Given the description of an element on the screen output the (x, y) to click on. 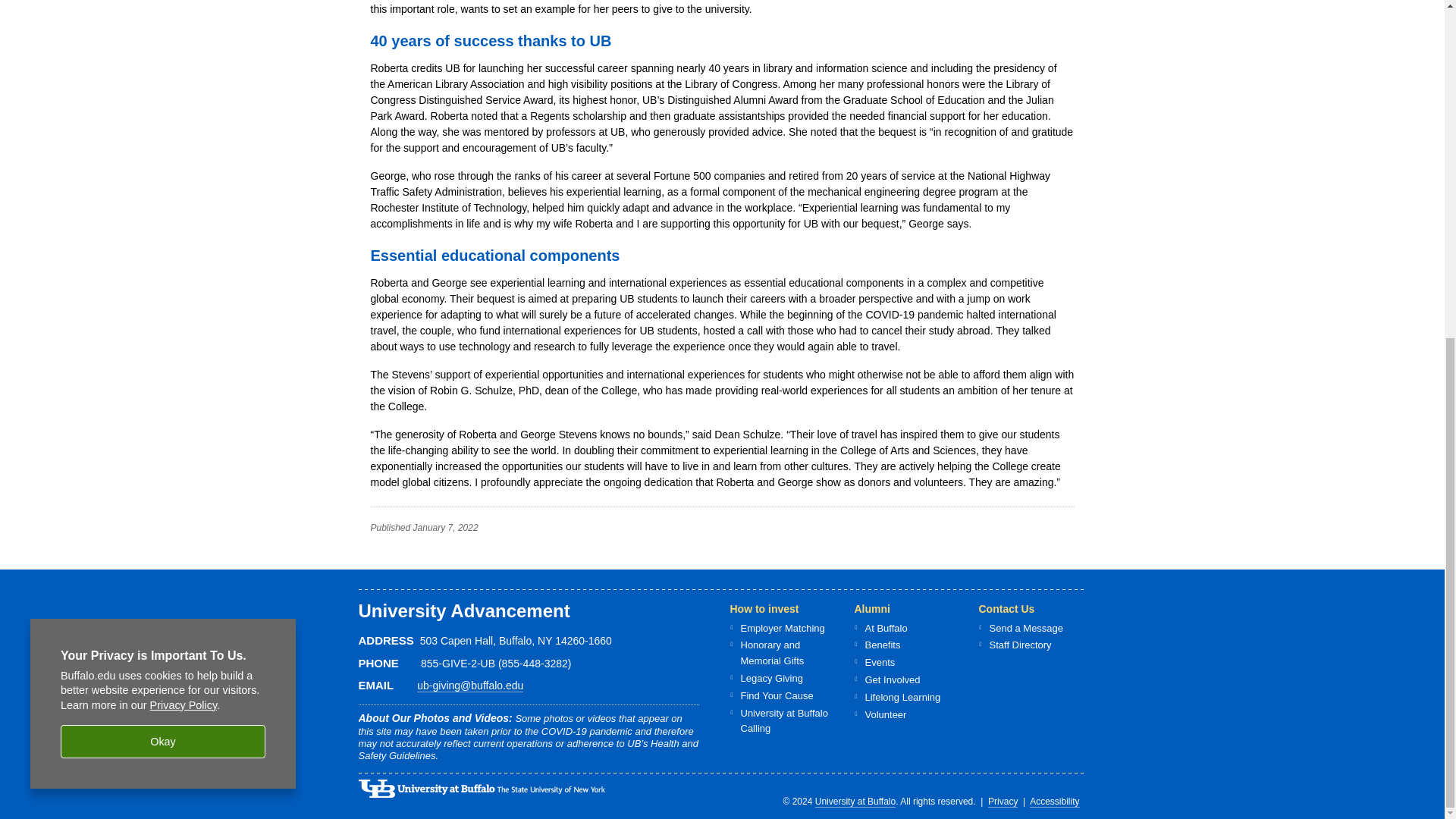
Find Your Cause (775, 695)
Alumni (871, 608)
Employer Matching (781, 627)
Legacy Giving (770, 677)
University at Buffalo Calling (783, 720)
Honorary and Memorial Gifts (771, 652)
University Advancement (463, 610)
